Given the description of an element on the screen output the (x, y) to click on. 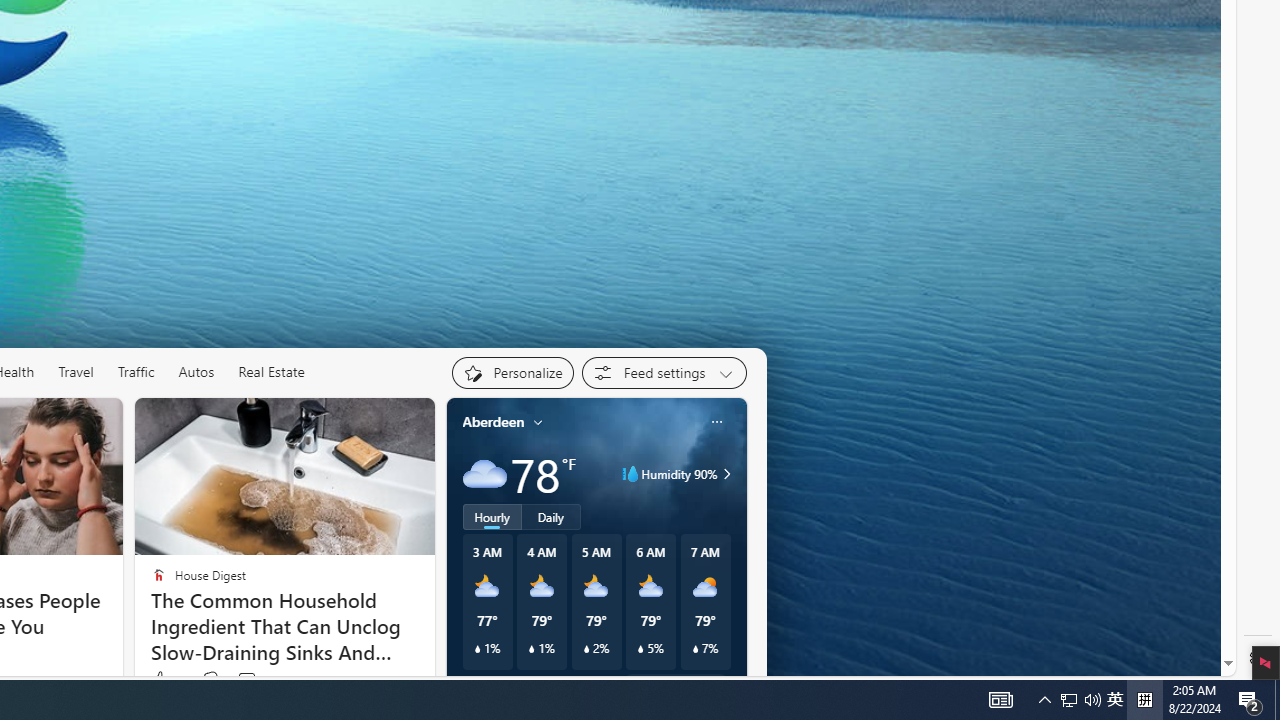
Real Estate (271, 371)
Feed settings (664, 372)
Humidity 90% (723, 474)
View comments 116 Comment (258, 680)
2k Like (166, 680)
Dislike (210, 680)
Class: icon-img (715, 421)
